Given the description of an element on the screen output the (x, y) to click on. 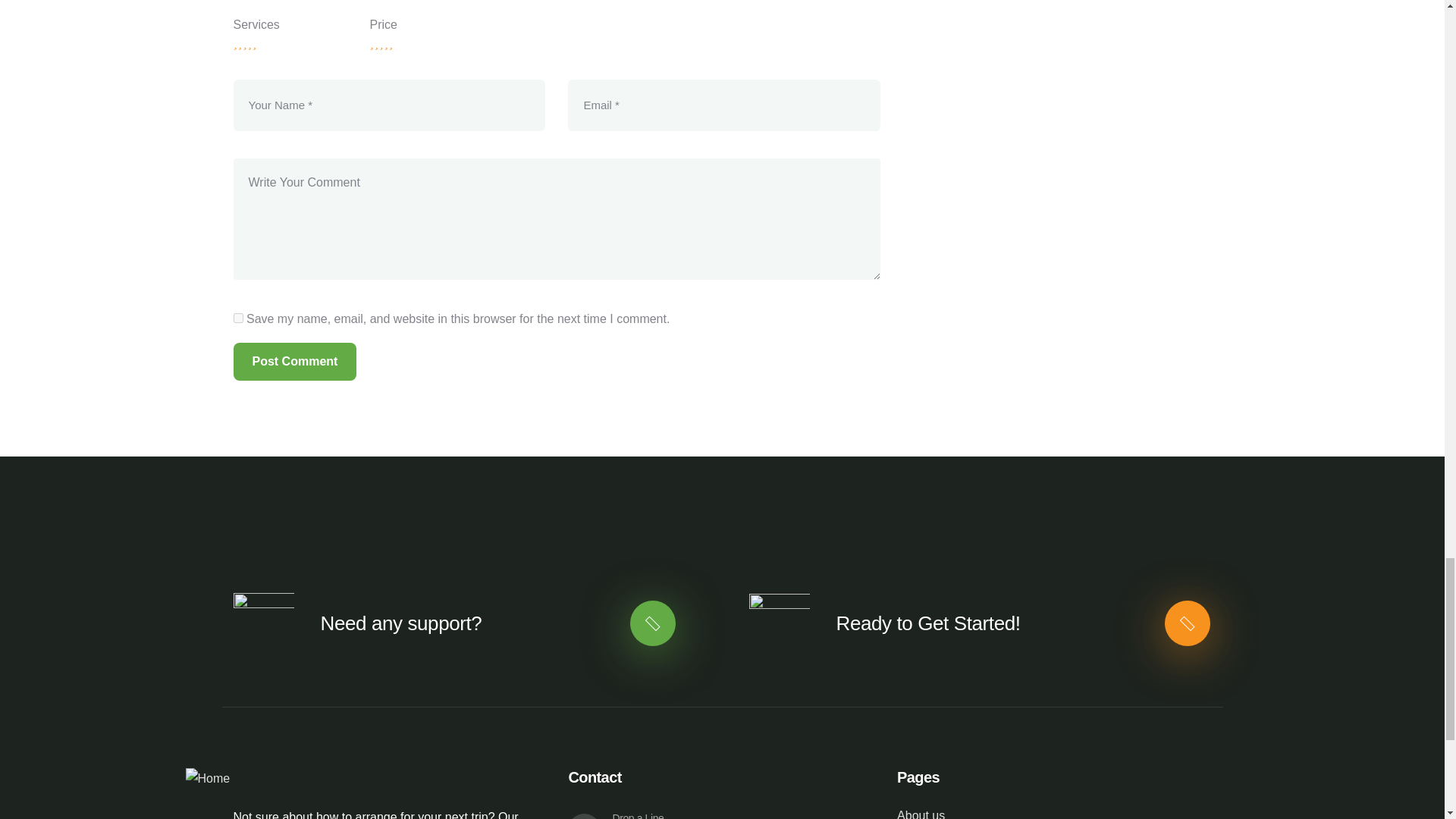
Ready to Get Started! (927, 622)
Post Comment (294, 361)
Home (207, 779)
Post Comment (294, 361)
yes (237, 317)
Need any support? (400, 622)
